Given the description of an element on the screen output the (x, y) to click on. 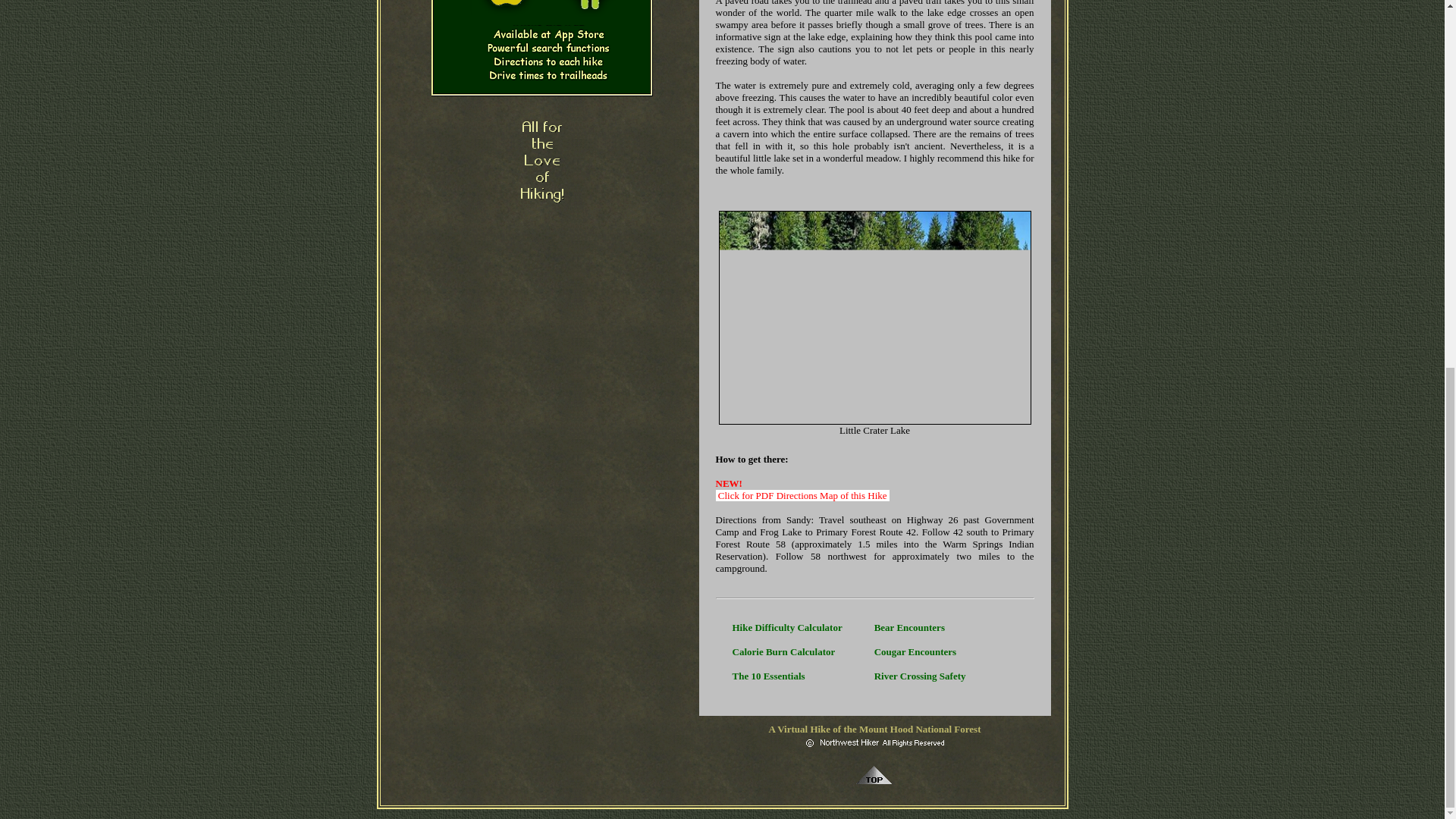
Hike Difficulty Calculator (787, 627)
River Crossing Safety (920, 675)
Click Here for Hike Difficulty Calculator (787, 627)
Little Crater Lake (874, 317)
Calorie Burn Calculator (783, 651)
Bear Encounters (909, 627)
The 10 Essentials (768, 675)
 Click for PDF Directions Map of this Hike  (802, 495)
Cougar Encounters (915, 651)
Click Here for Calorie Burn Calculaor (783, 651)
